Given the description of an element on the screen output the (x, y) to click on. 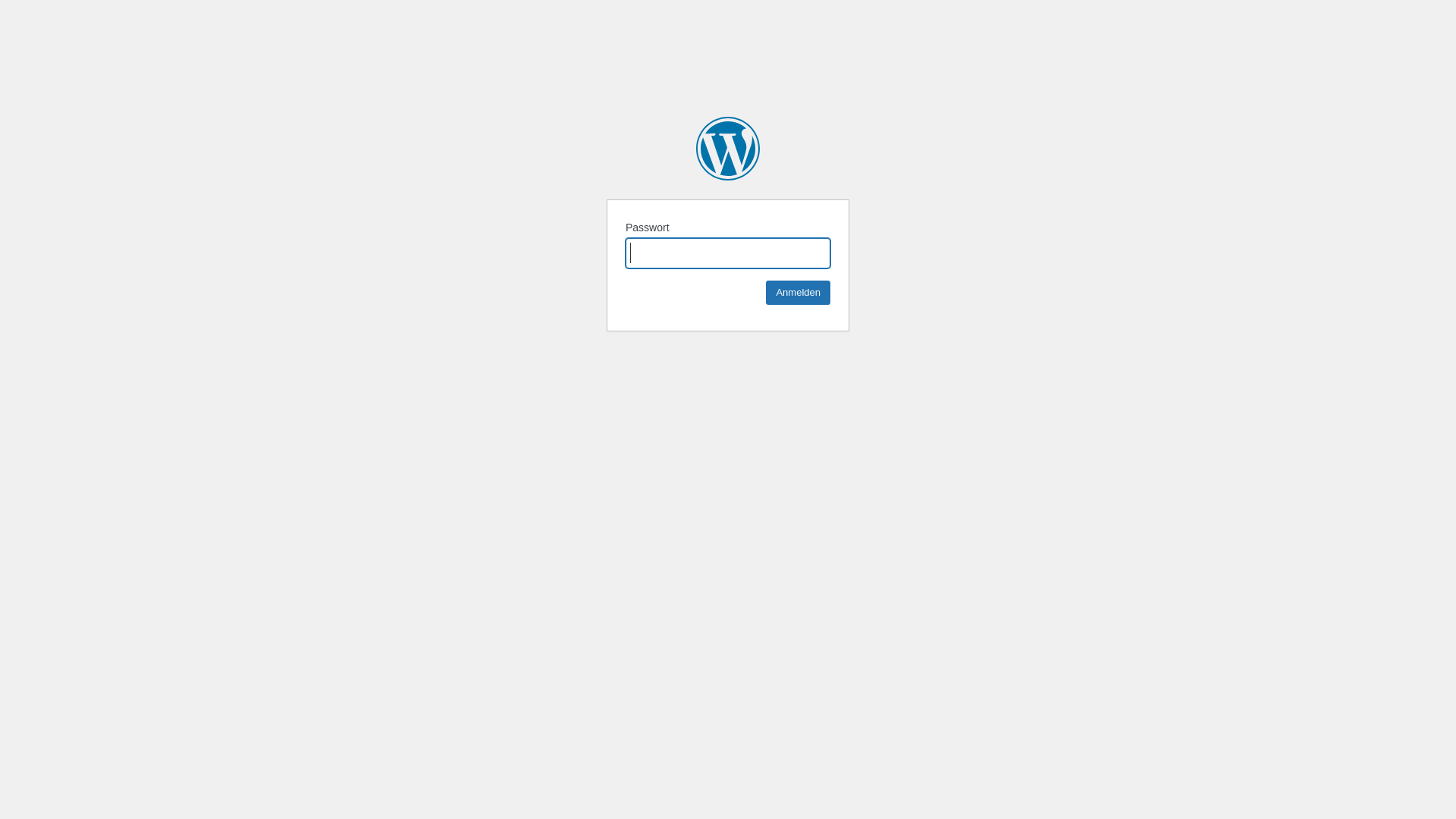
Anmelden Element type: text (797, 292)
